Given the description of an element on the screen output the (x, y) to click on. 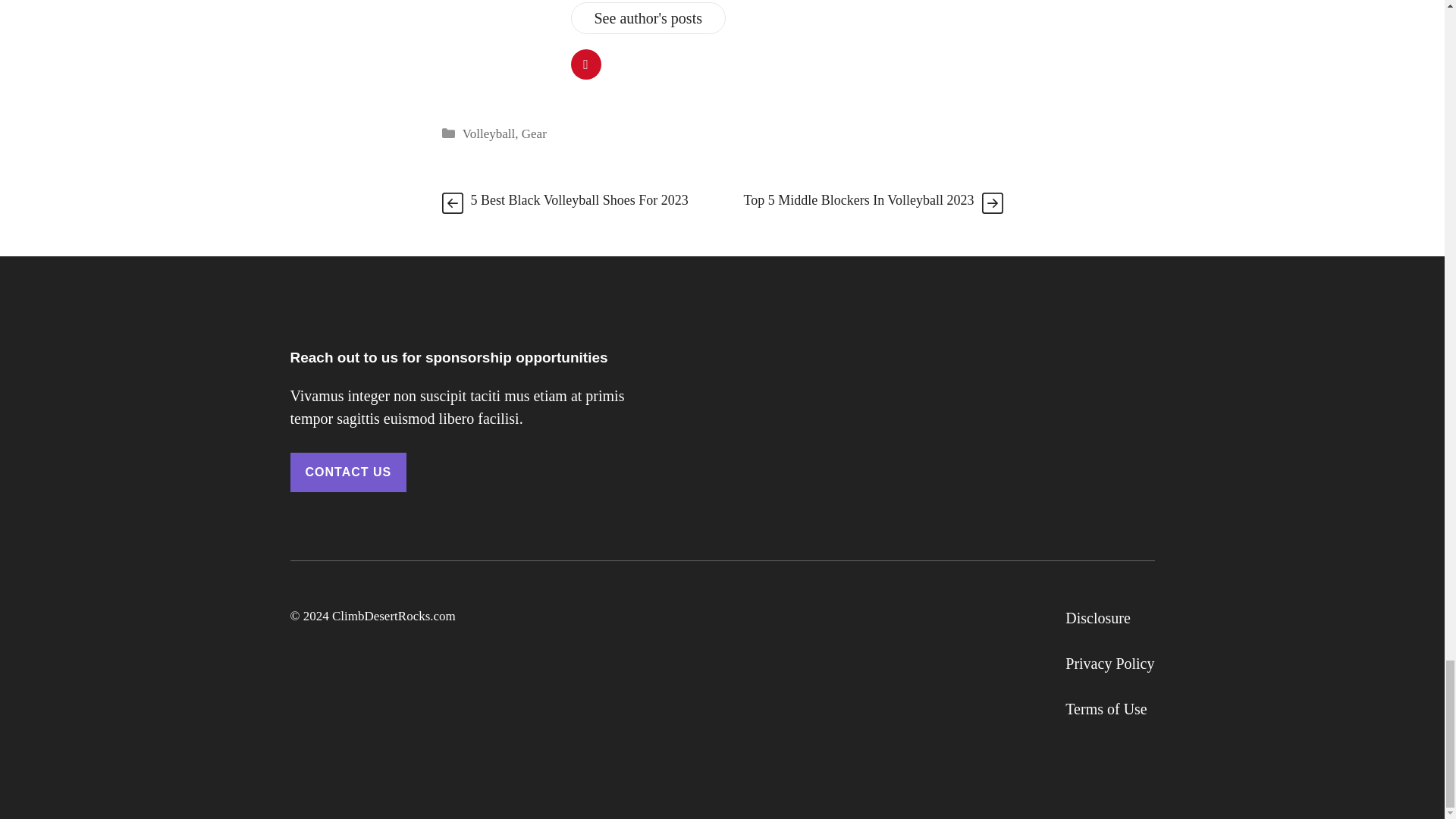
Volleyball (489, 133)
5 Best Black Volleyball Shoes For 2023 (578, 200)
Gear (534, 133)
See author's posts (647, 18)
